Given the description of an element on the screen output the (x, y) to click on. 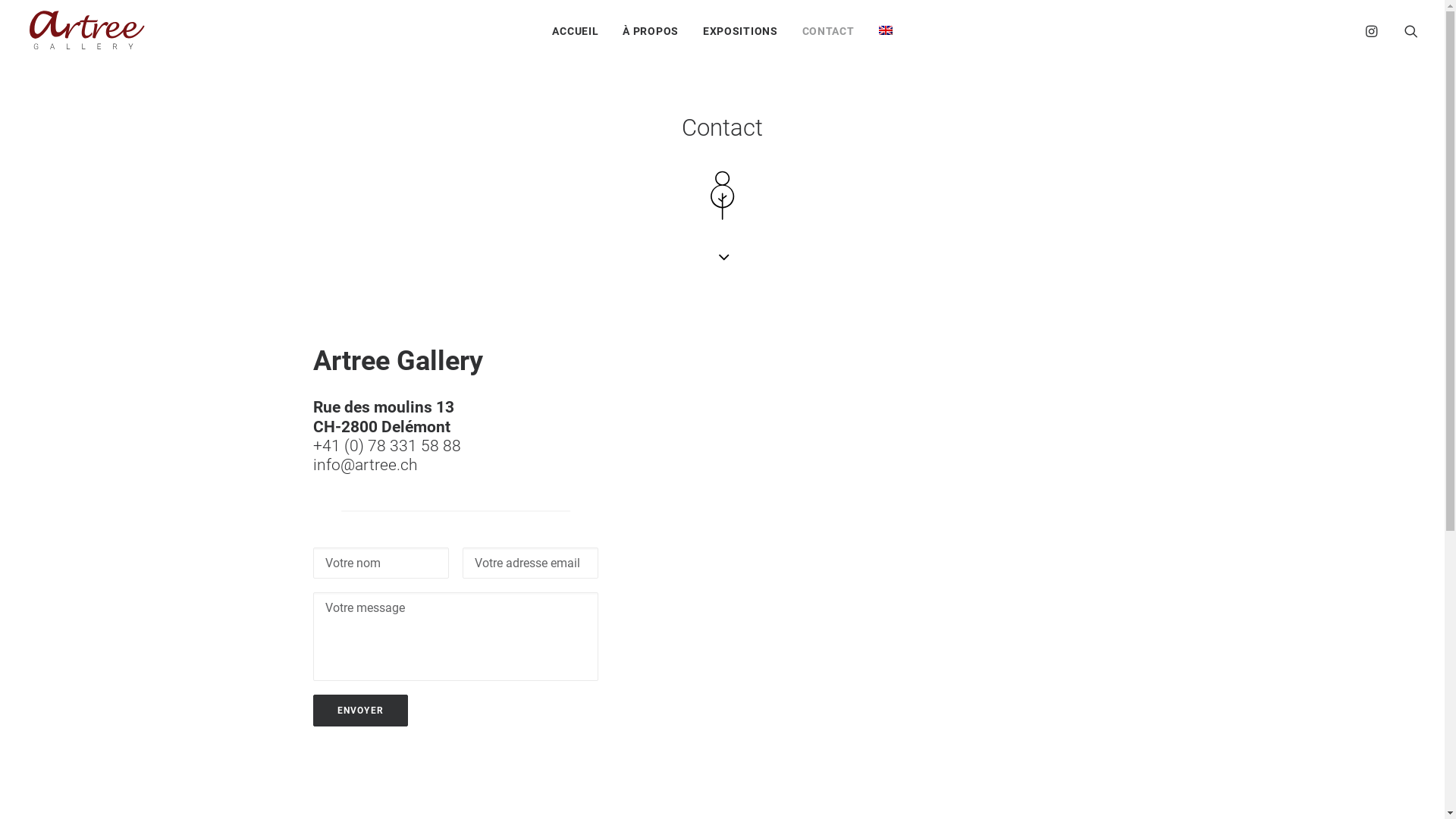
info@artree.ch Element type: text (364, 464)
ACCUEIL Element type: text (574, 29)
EXPOSITIONS Element type: text (740, 29)
CONTACT Element type: text (828, 29)
+41 (0) 78 331 58 88 Element type: text (386, 445)
Envoyer Element type: text (359, 710)
